Given the description of an element on the screen output the (x, y) to click on. 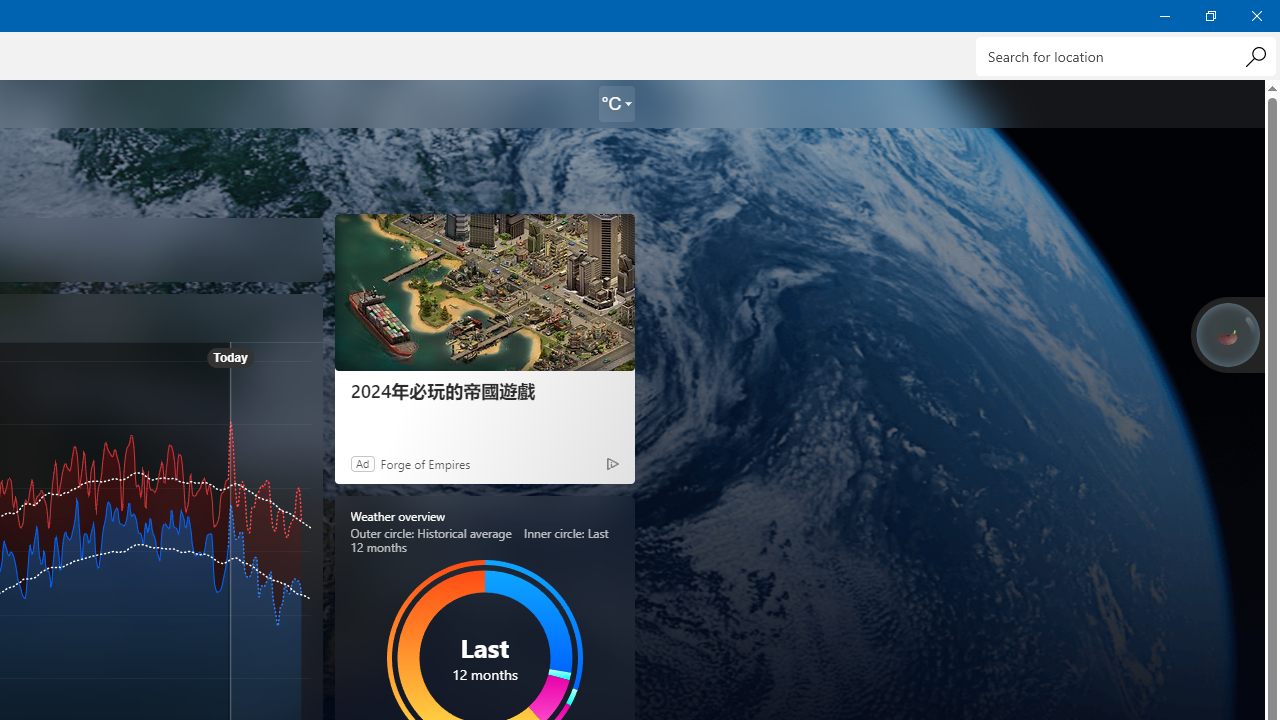
Minimize Weather (1164, 15)
Restore Weather (1210, 15)
Search (1255, 56)
Search for location (1125, 56)
Close Weather (1256, 15)
